Given the description of an element on the screen output the (x, y) to click on. 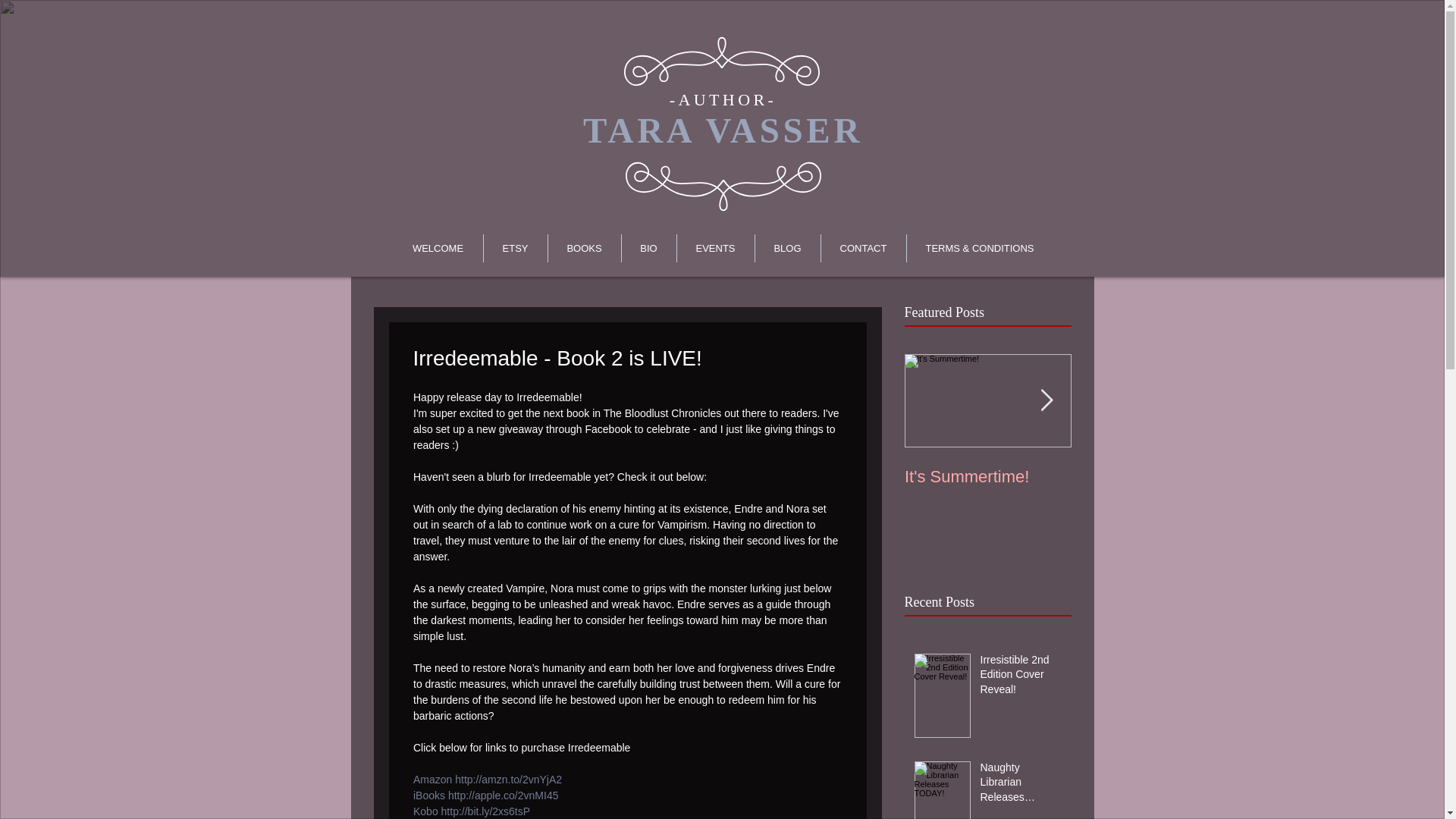
CONTACT (863, 248)
Irresistible 2nd Edition Cover Reveal! (1020, 677)
BOOKS (583, 248)
BLOG (788, 248)
BIO (649, 248)
EVENTS (715, 248)
It's Summertime! (987, 476)
TARA VASSER (723, 129)
-AUTHOR- (723, 99)
ETSY (515, 248)
